Given the description of an element on the screen output the (x, y) to click on. 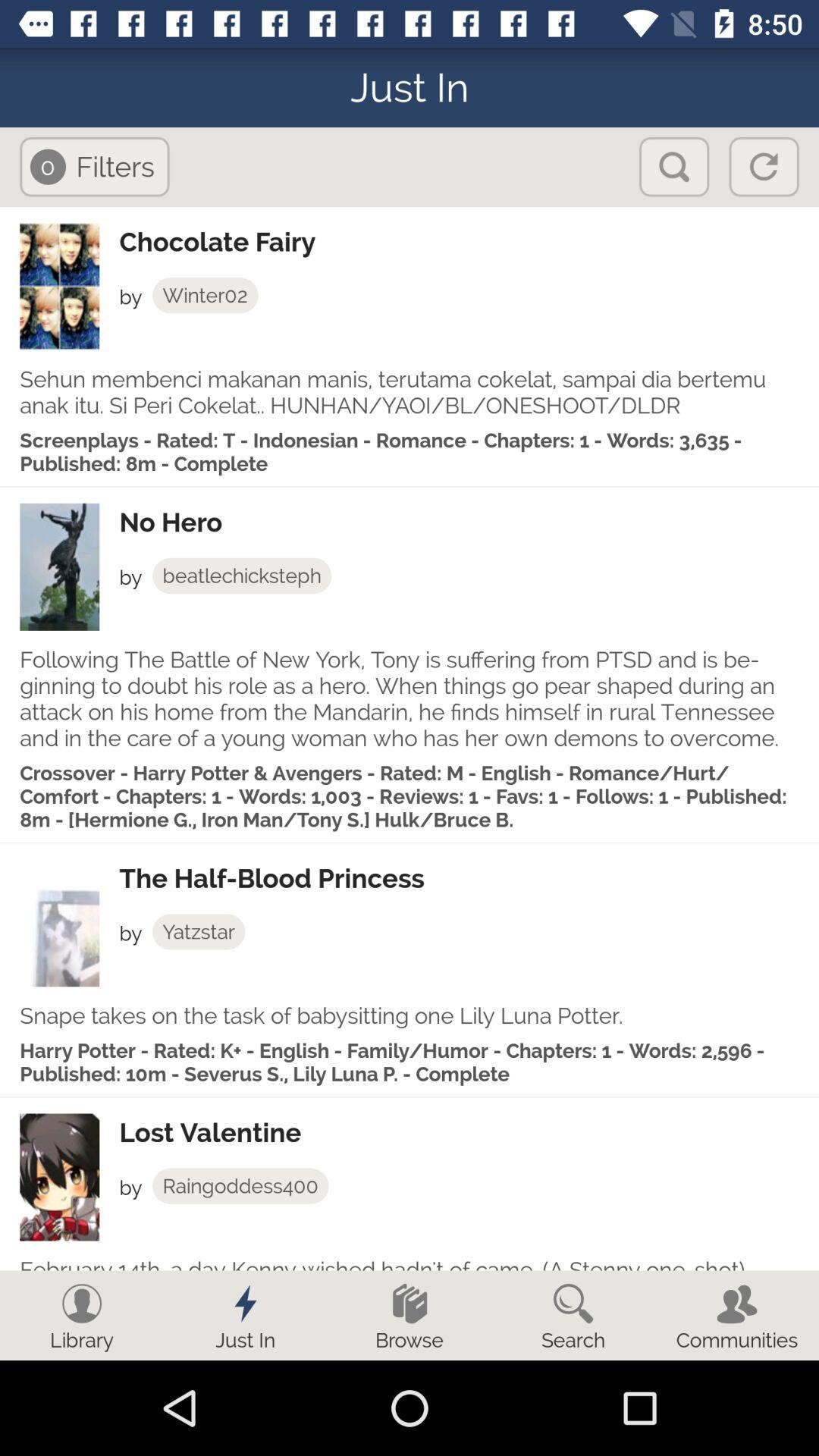
tap following the battle item (409, 698)
